Given the description of an element on the screen output the (x, y) to click on. 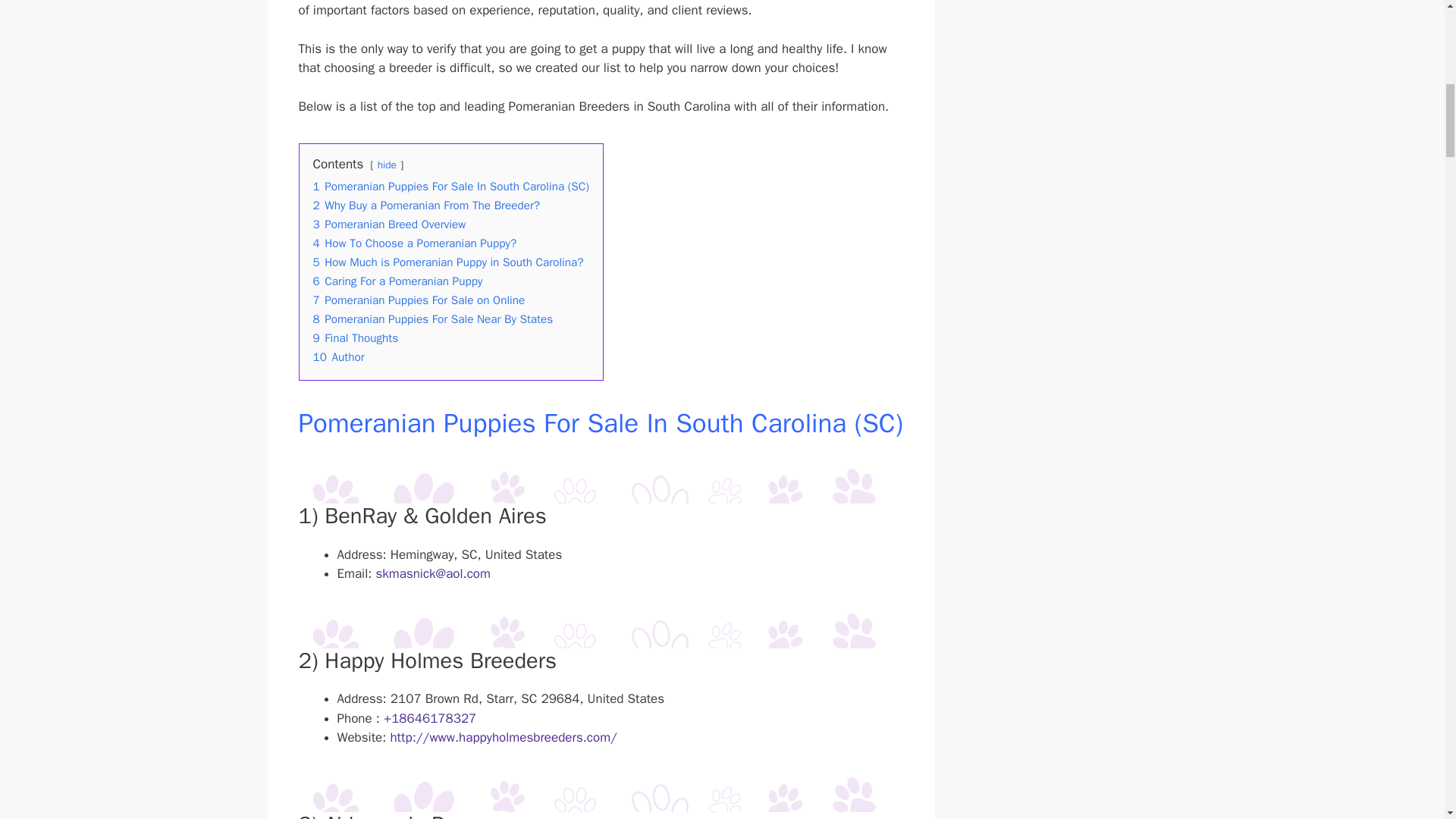
4 How To Choose a Pomeranian Puppy? (414, 242)
hide (386, 164)
5 How Much is Pomeranian Puppy in South Carolina? (448, 262)
10 Author (338, 356)
2 Why Buy a Pomeranian From The Breeder? (426, 205)
9 Final Thoughts (355, 337)
3 Pomeranian Breed Overview (389, 224)
8 Pomeranian Puppies For Sale Near By States (433, 319)
6 Caring For a Pomeranian Puppy (397, 281)
7 Pomeranian Puppies For Sale on Online (418, 299)
